Given the description of an element on the screen output the (x, y) to click on. 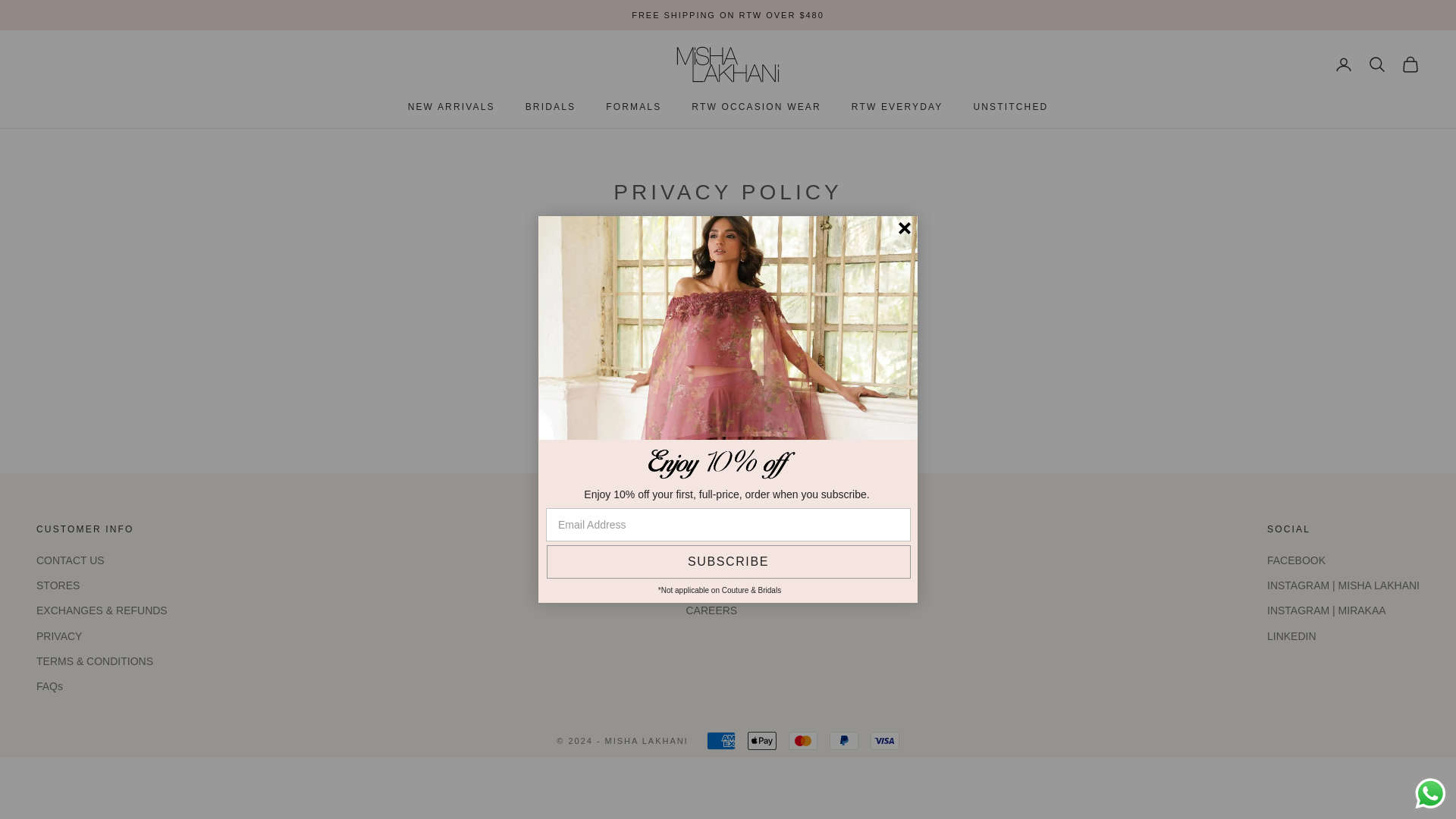
Open bag (1409, 64)
NEW ARRIVALS (451, 106)
UNSTITCHED (1010, 106)
Open account page (1343, 64)
BRIDALS (550, 106)
Subscribe (728, 561)
Misha Lakhani (727, 64)
Open search (1377, 64)
